Given the description of an element on the screen output the (x, y) to click on. 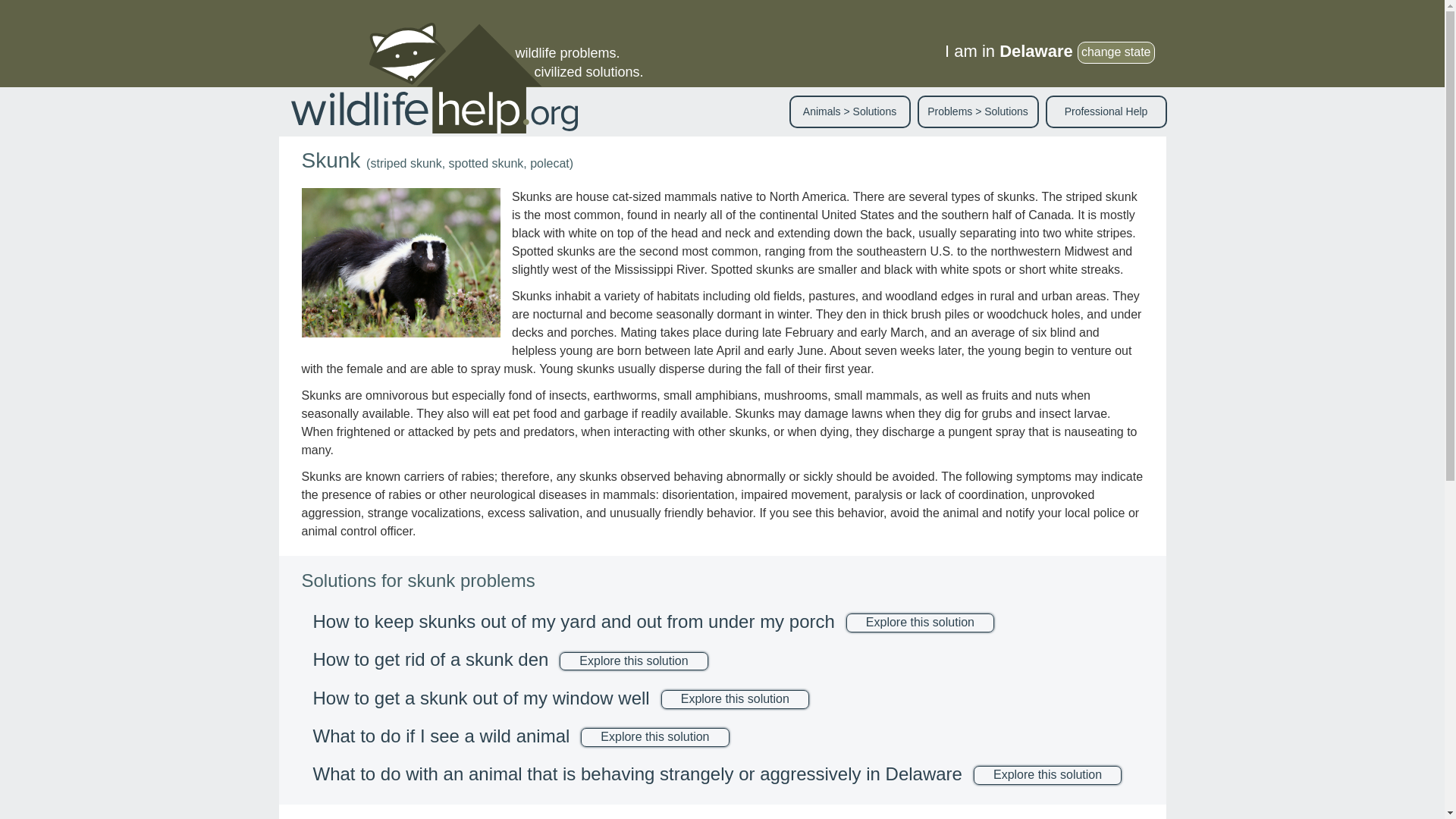
change state (1115, 52)
Home (440, 77)
Striped skunk (400, 262)
Professional Help (1105, 111)
